Given the description of an element on the screen output the (x, y) to click on. 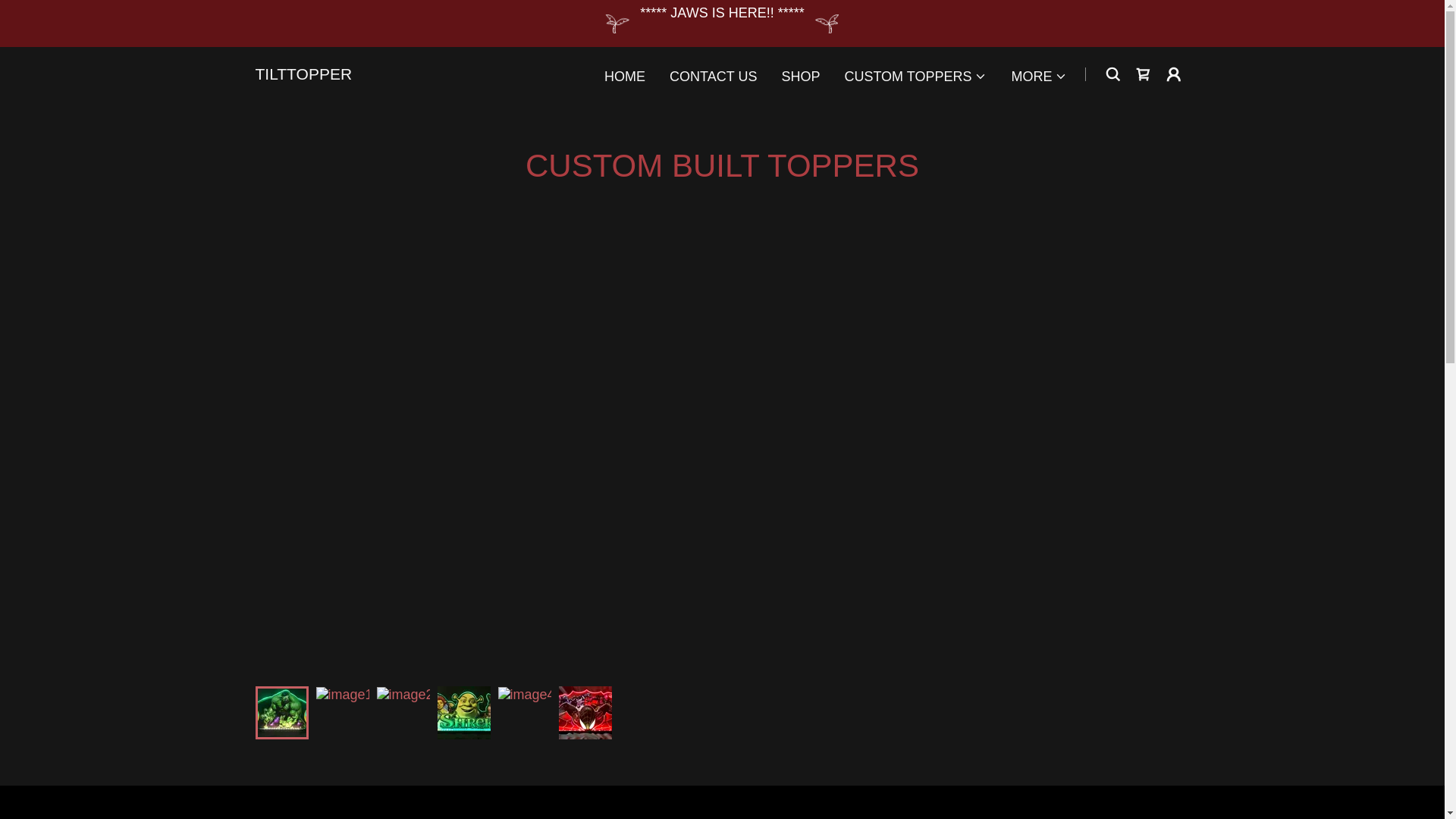
CUSTOM TOPPERS (915, 75)
HOME (624, 75)
CONTACT US (713, 75)
Tilttopper (303, 74)
TILTTOPPER (303, 74)
MORE (1038, 75)
SHOP (800, 75)
